Given the description of an element on the screen output the (x, y) to click on. 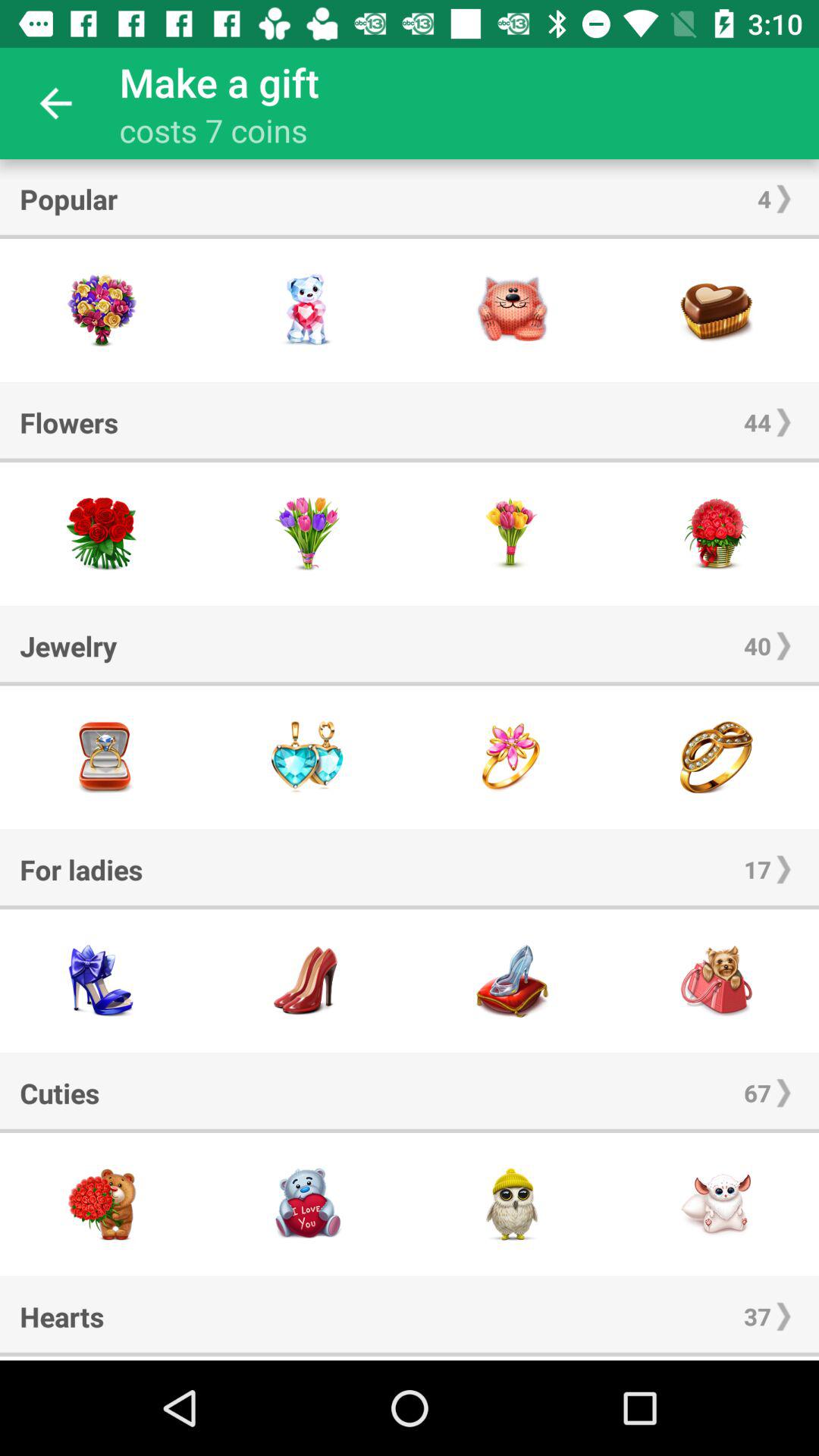
select gift option (511, 1204)
